Given the description of an element on the screen output the (x, y) to click on. 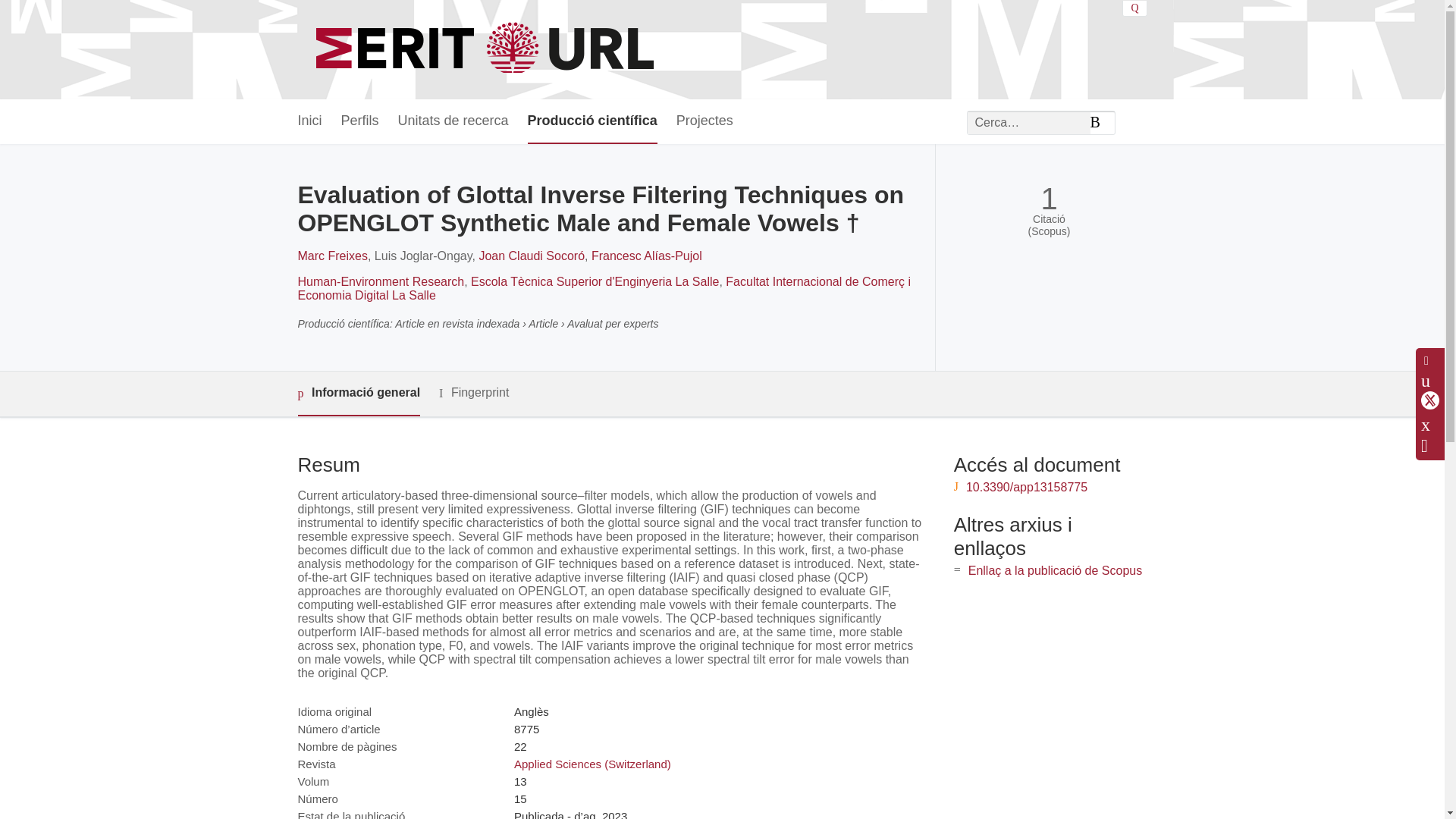
Unitats de recerca (452, 121)
Fingerprint (473, 392)
Human-Environment Research (380, 281)
Marc Freixes (331, 255)
Universitat Ramon Llull Inici (487, 49)
Projectes (705, 121)
